Given the description of an element on the screen output the (x, y) to click on. 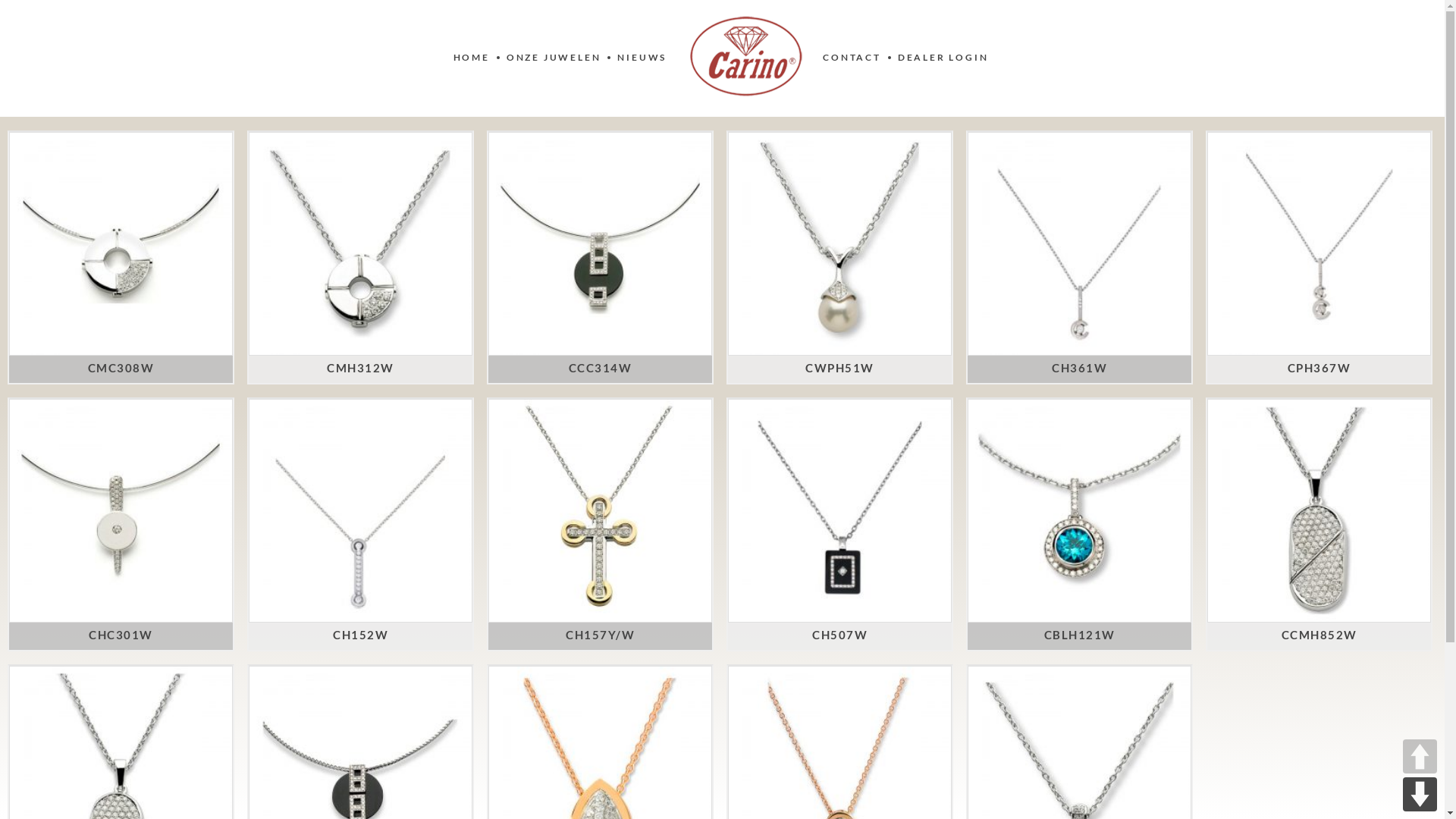
CH157Y/W Element type: text (599, 634)
CMC308W Element type: text (120, 367)
CPH367W Element type: text (1319, 367)
NIEUWS Element type: text (641, 57)
CCMH852W Element type: text (1319, 634)
Carino Belgium Element type: hover (746, 56)
DEALER LOGIN Element type: text (943, 57)
ONZE JUWELEN Element type: text (553, 57)
CONTACT Element type: text (851, 57)
CWPH51W Element type: text (839, 367)
CCC314W Element type: text (600, 367)
CH507W Element type: text (839, 634)
HOME Element type: text (471, 57)
CMH312W Element type: text (360, 367)
CBLH121W Element type: text (1078, 634)
CHC301W Element type: text (120, 634)
DOWN Element type: text (1419, 794)
UP Element type: text (1419, 756)
CH361W Element type: text (1079, 367)
CH152W Element type: text (360, 634)
